Given the description of an element on the screen output the (x, y) to click on. 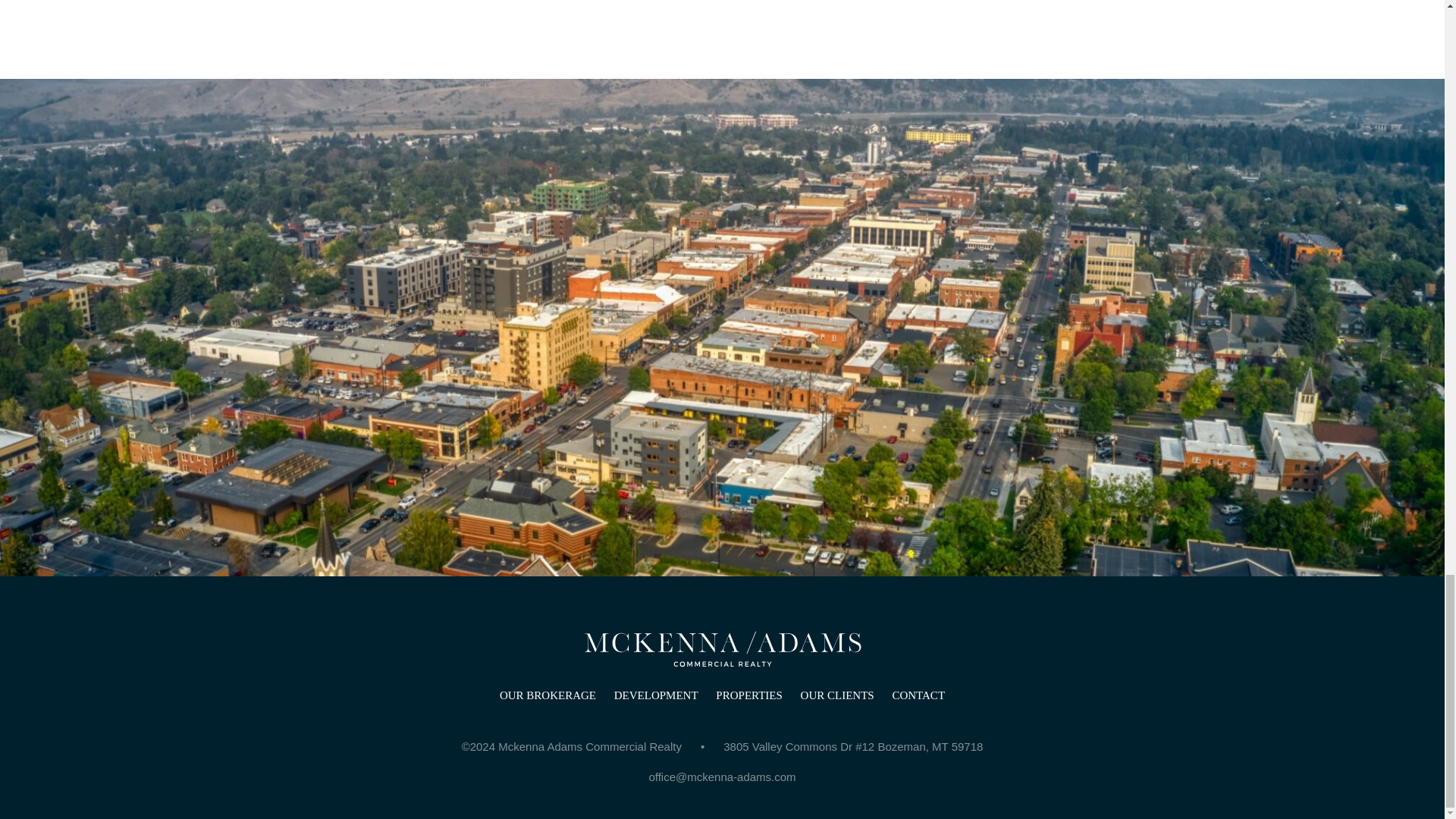
CONTACT (917, 695)
OUR CLIENTS (837, 695)
DEVELOPMENT (656, 695)
PROPERTIES (748, 695)
OUR BROKERAGE (548, 695)
